Given the description of an element on the screen output the (x, y) to click on. 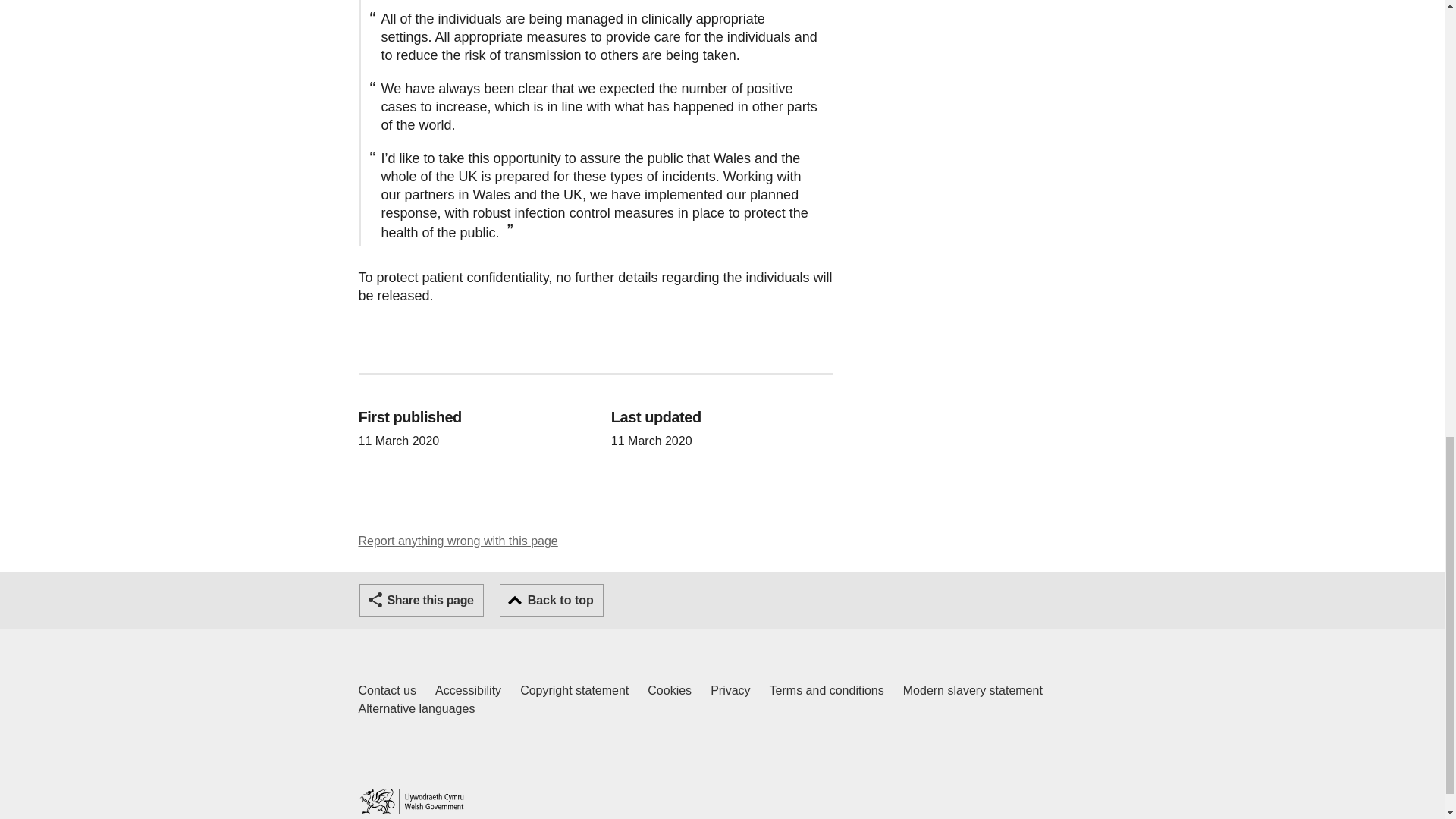
Home (411, 801)
Terms and conditions (826, 690)
Report anything wrong with this page (457, 540)
Copyright statement (573, 690)
Privacy (729, 690)
Accessibility (467, 690)
Cookies (669, 690)
Modern slavery statement (972, 690)
Share this page (386, 690)
